Given the description of an element on the screen output the (x, y) to click on. 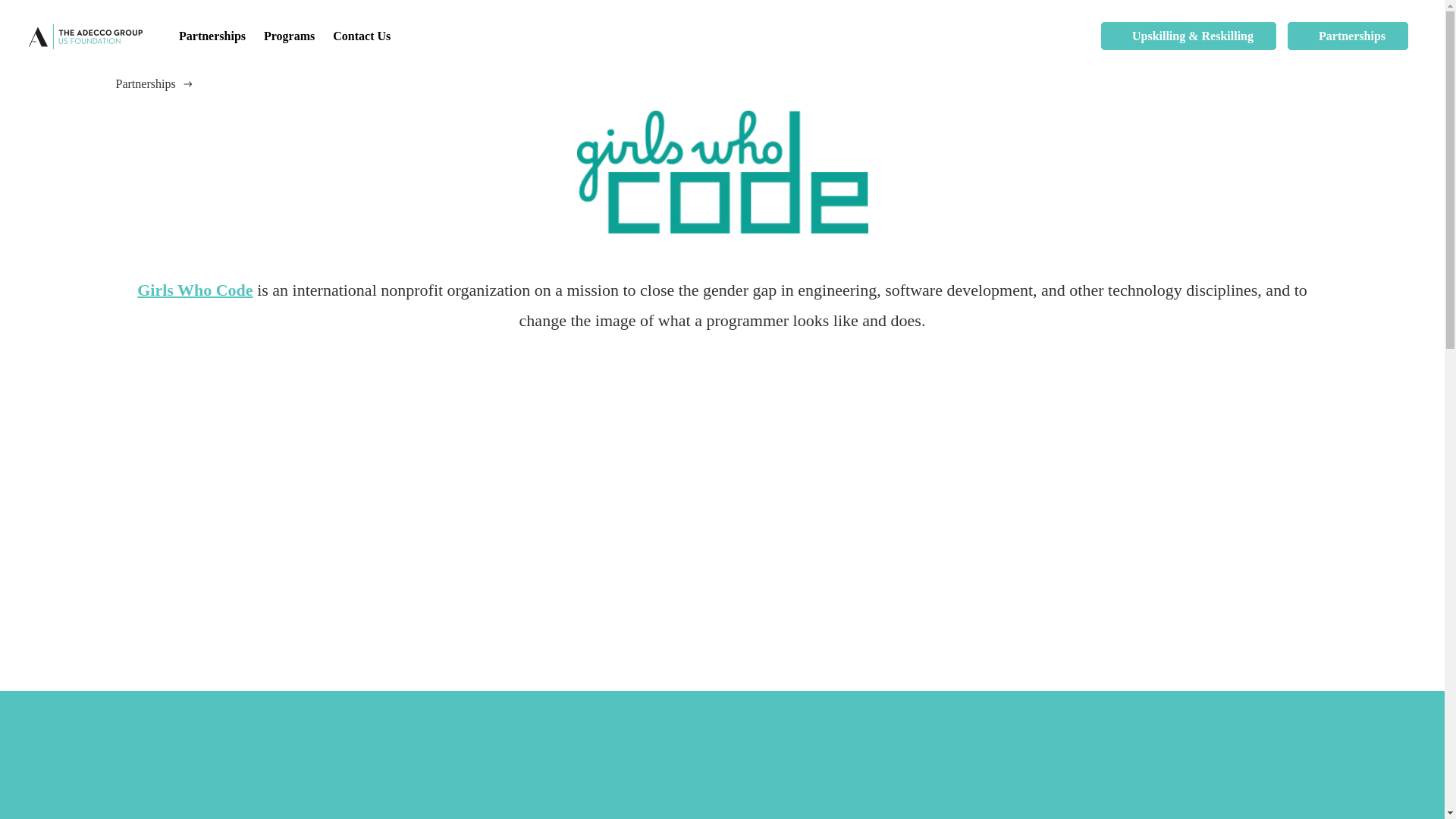
Girls Who Code (193, 289)
The Adecco Group US Foundation (85, 36)
Partnerships (1347, 35)
Partnerships (212, 35)
Contact Us (361, 35)
Programs (288, 35)
